Given the description of an element on the screen output the (x, y) to click on. 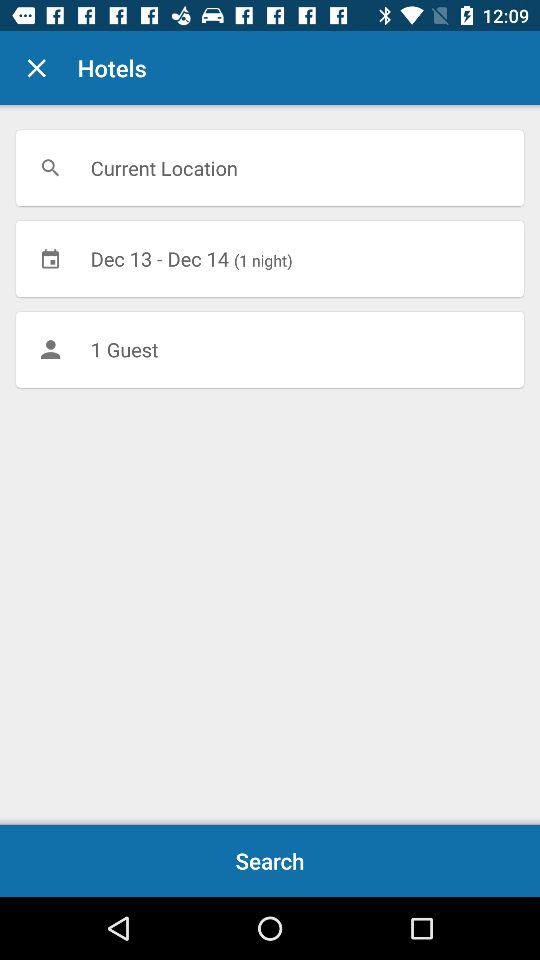
turn off the dec 13 dec (269, 258)
